Given the description of an element on the screen output the (x, y) to click on. 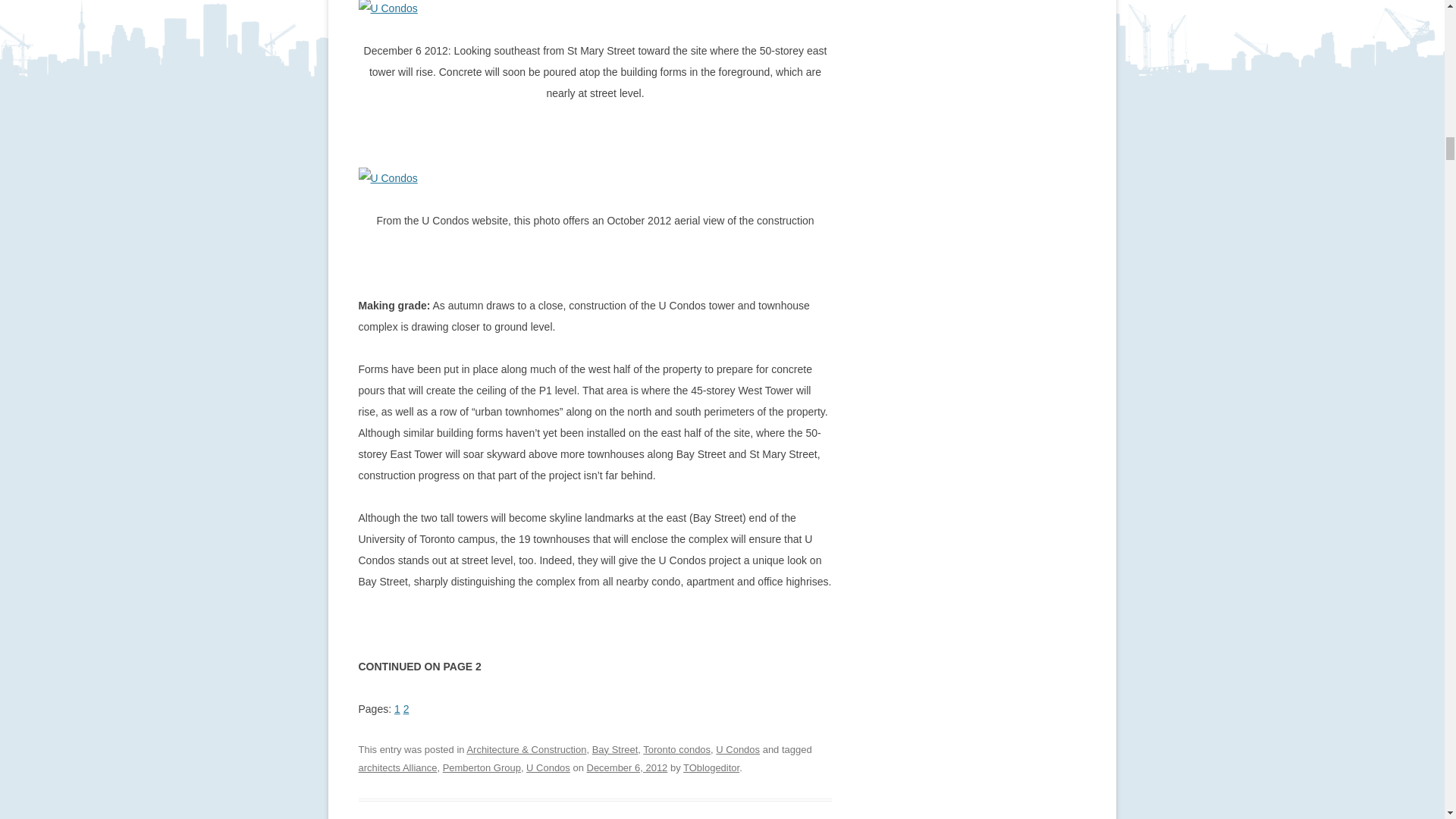
7:58 PM (627, 767)
View all posts by TOblogeditor (710, 767)
U Condos October 2012 construction aerial view  (387, 178)
